Given the description of an element on the screen output the (x, y) to click on. 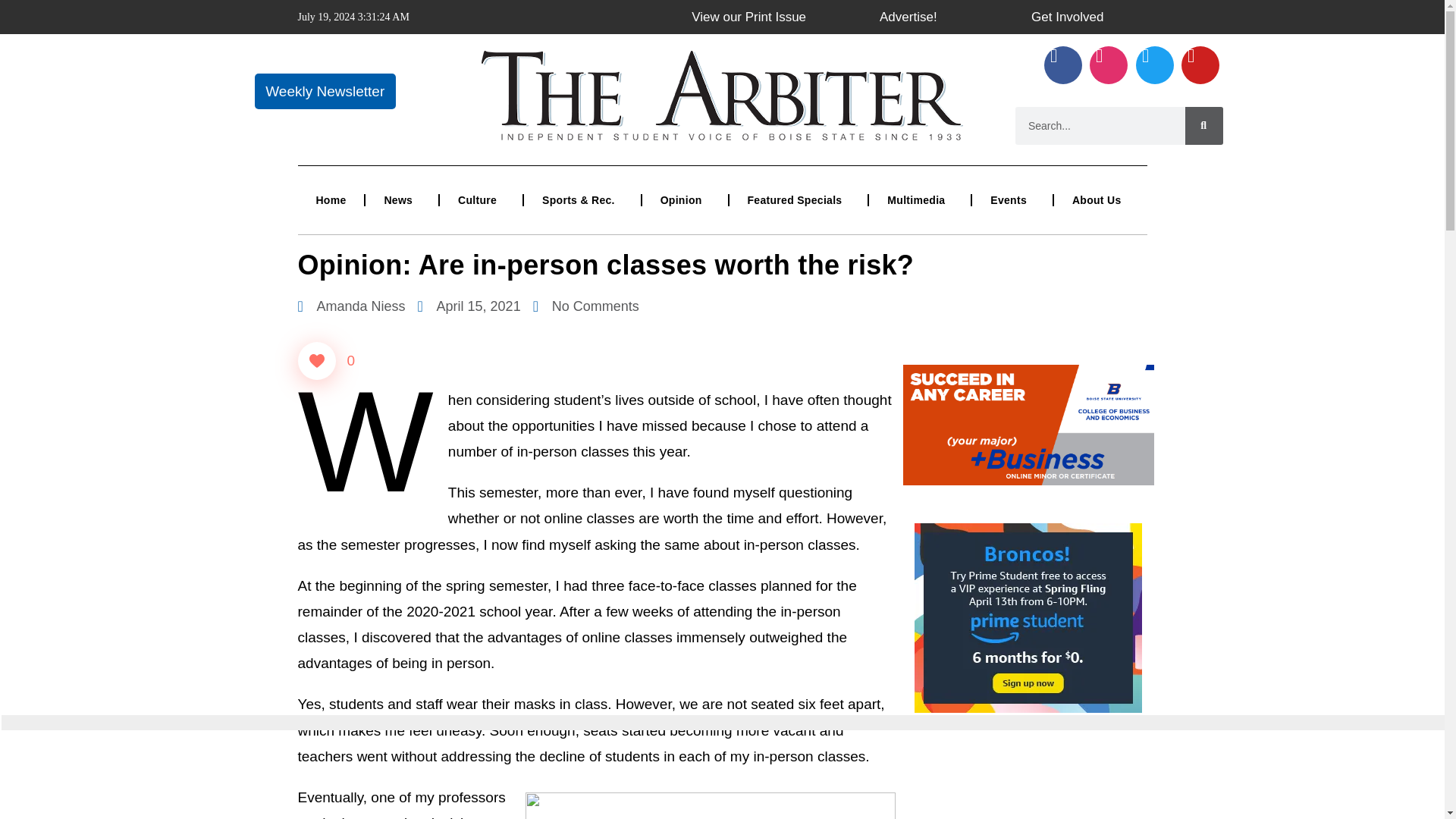
Culture (480, 199)
Opinion (685, 199)
News (401, 199)
Home (330, 199)
Featured Specials (798, 199)
